Given the description of an element on the screen output the (x, y) to click on. 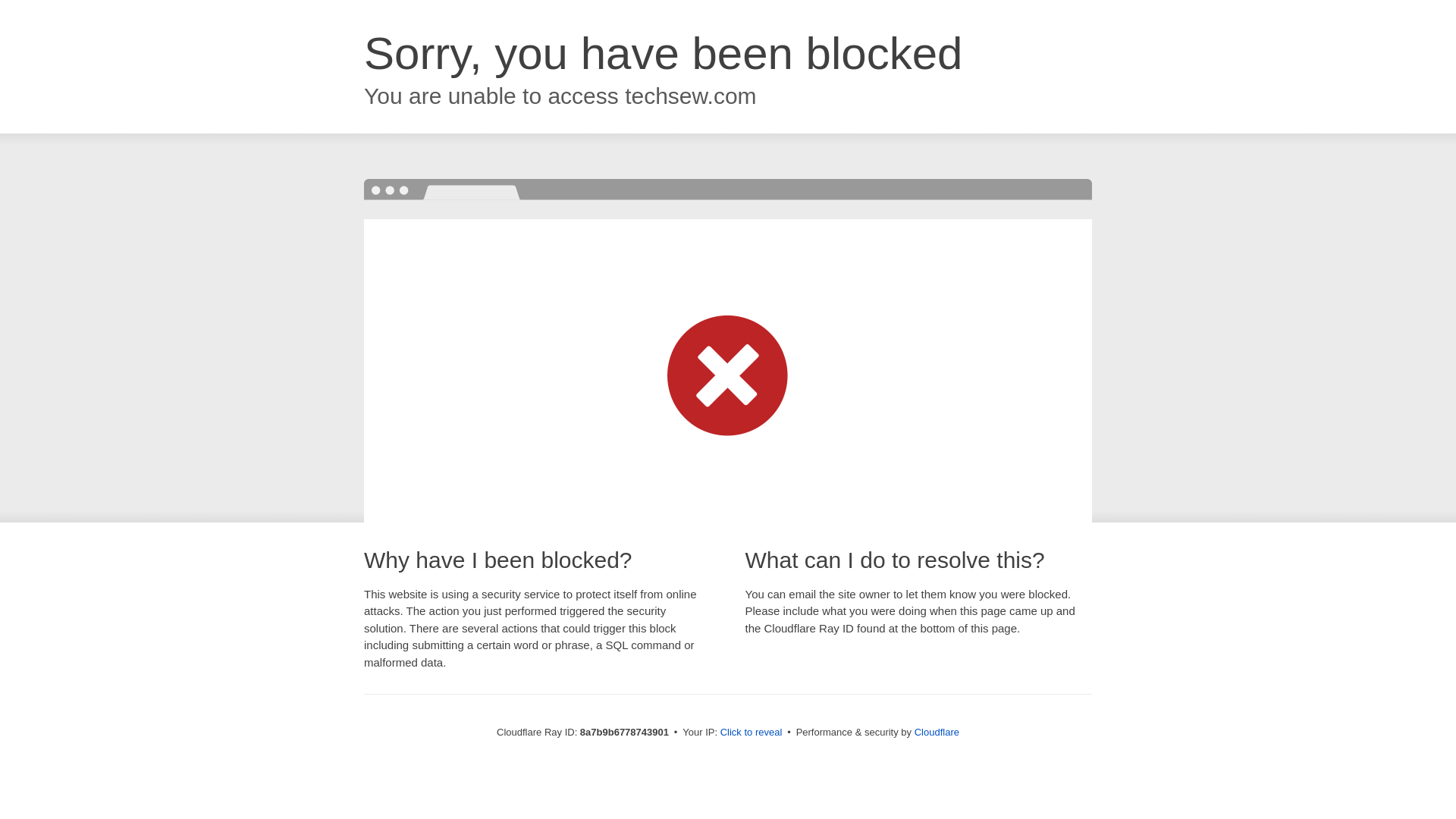
Click to reveal (751, 732)
Cloudflare (936, 731)
